Given the description of an element on the screen output the (x, y) to click on. 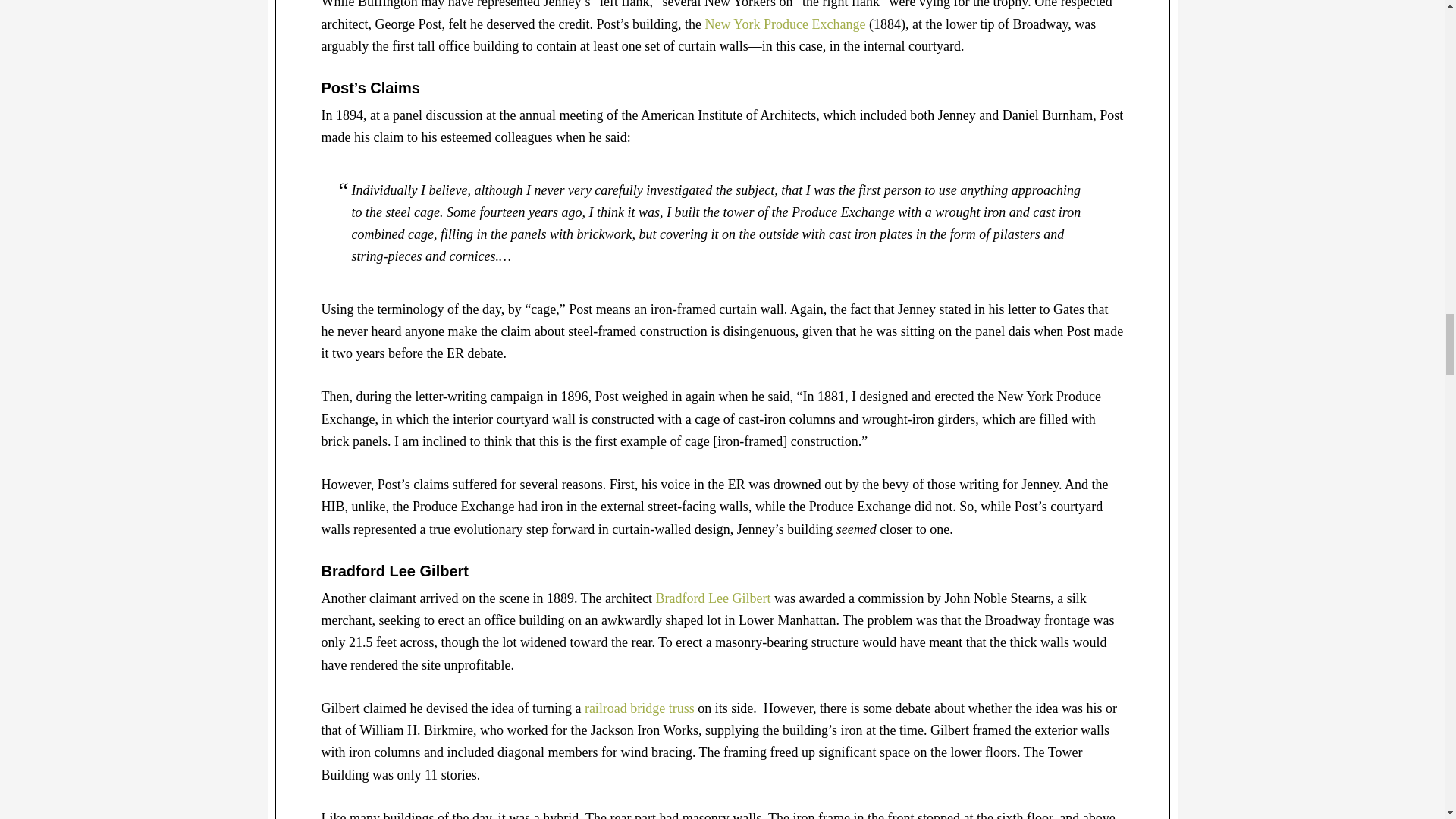
New York Produce Exchange (785, 23)
railroad bridge truss (639, 708)
Bradford Lee Gilbert (712, 598)
